Given the description of an element on the screen output the (x, y) to click on. 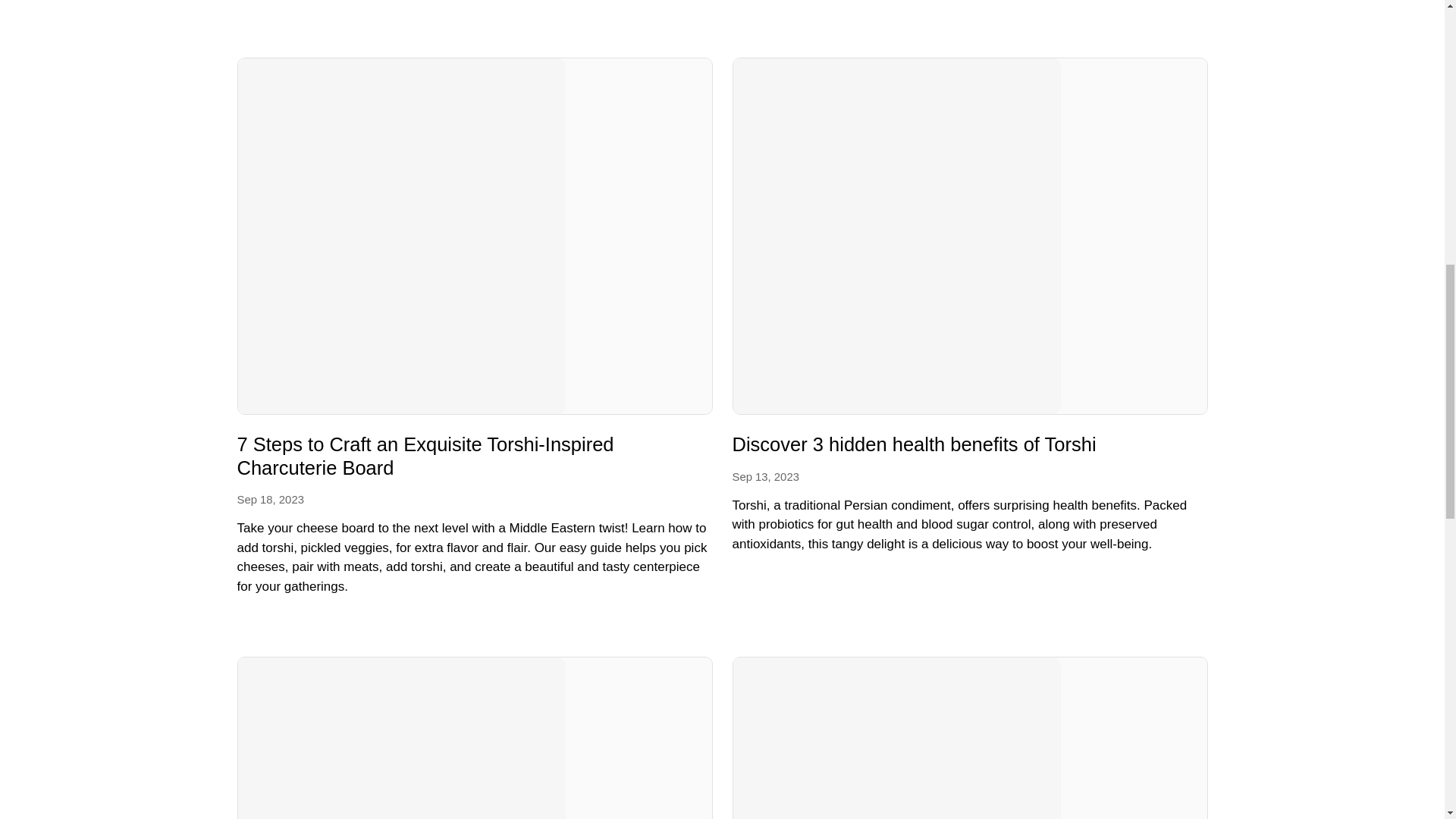
Reinventing the Martini: The Torshi Twist (473, 737)
Discover 3 hidden health benefits of Torshi (914, 446)
Pickling Through the Ages (970, 737)
Discover 3 hidden health benefits of Torshi (914, 446)
